Given the description of an element on the screen output the (x, y) to click on. 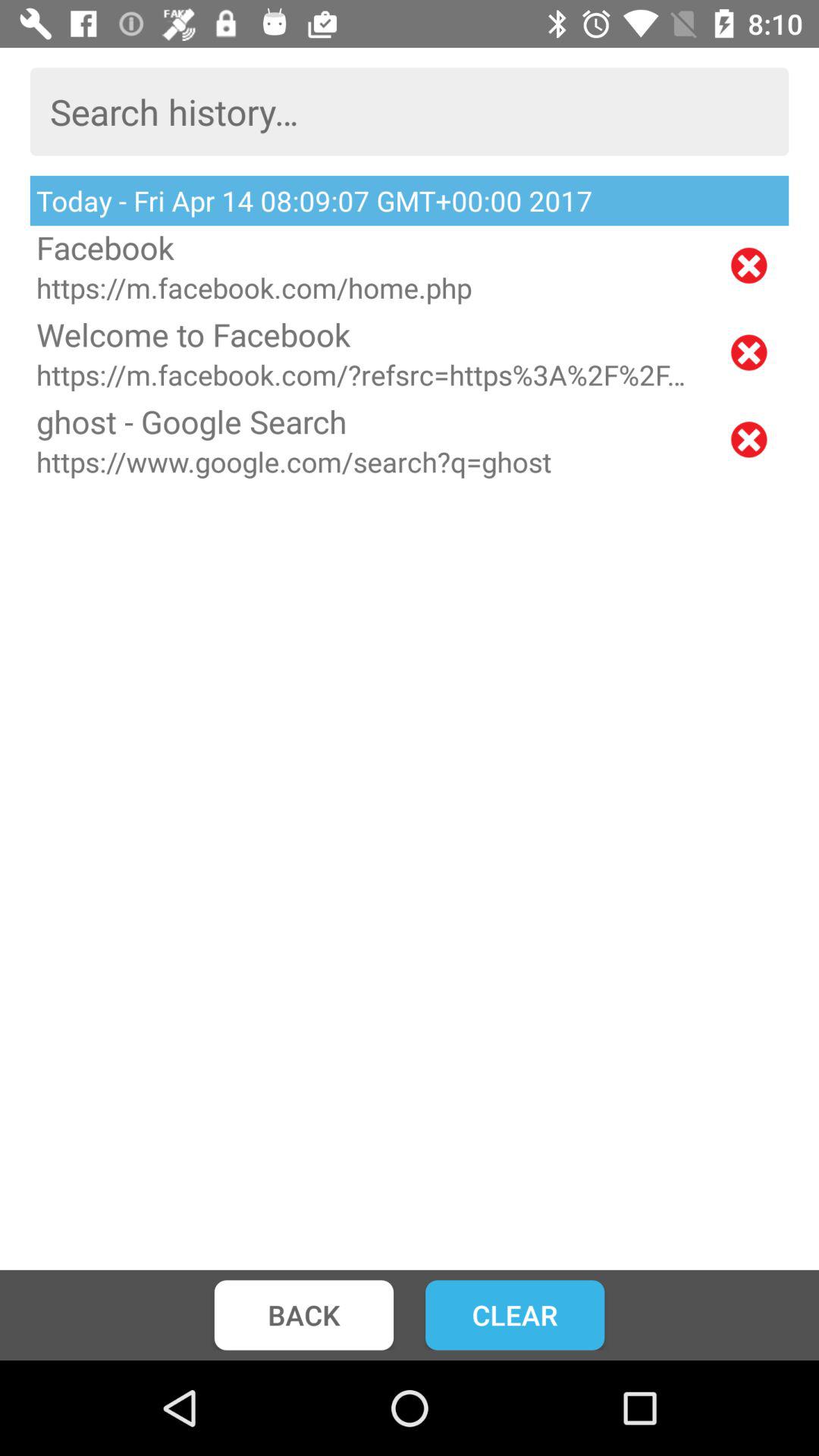
click the today fri apr item (409, 200)
